Given the description of an element on the screen output the (x, y) to click on. 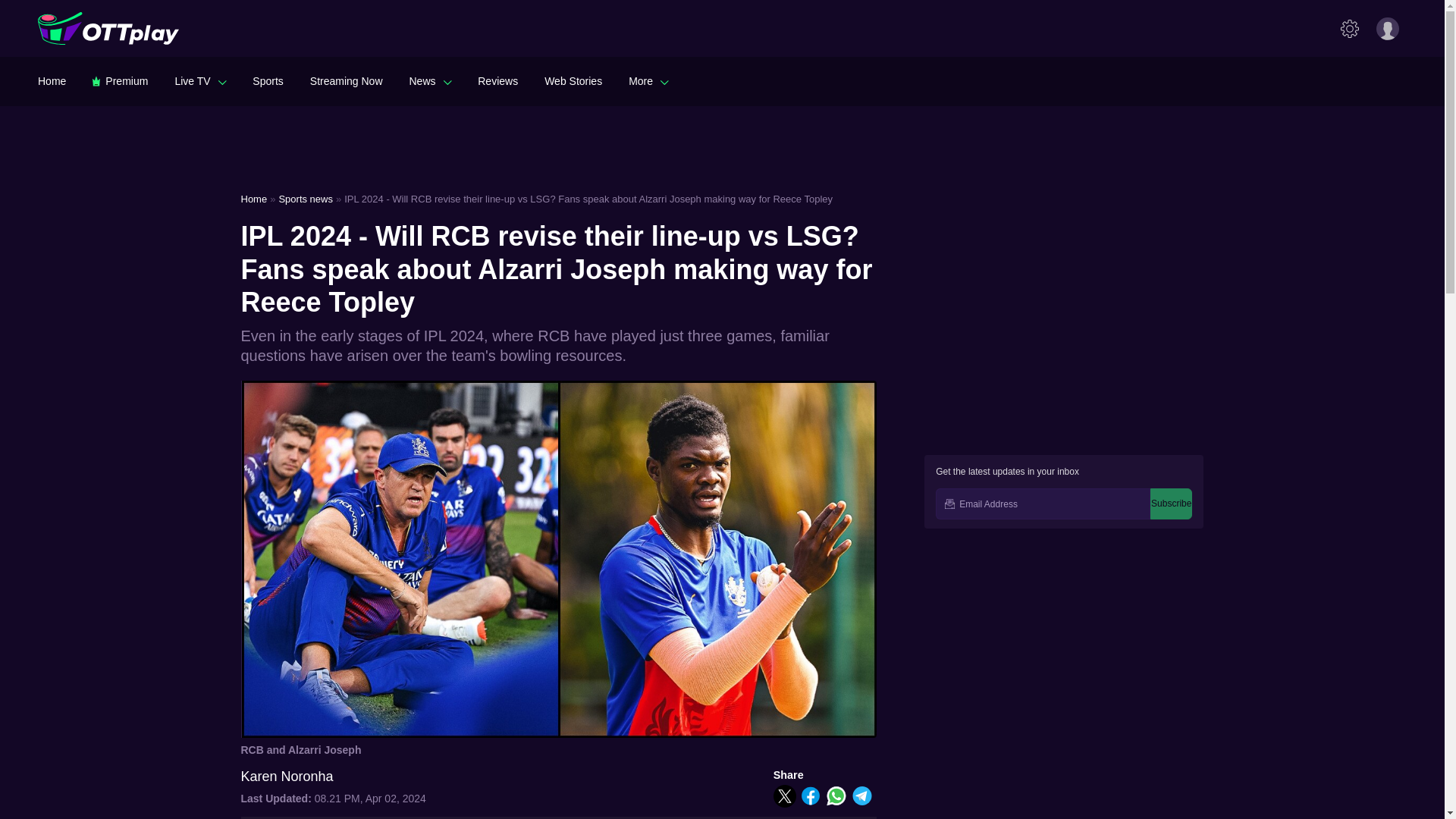
Web Stories (573, 80)
Live TV (199, 80)
Premium (120, 80)
Streaming Now (346, 80)
News (430, 80)
